Given the description of an element on the screen output the (x, y) to click on. 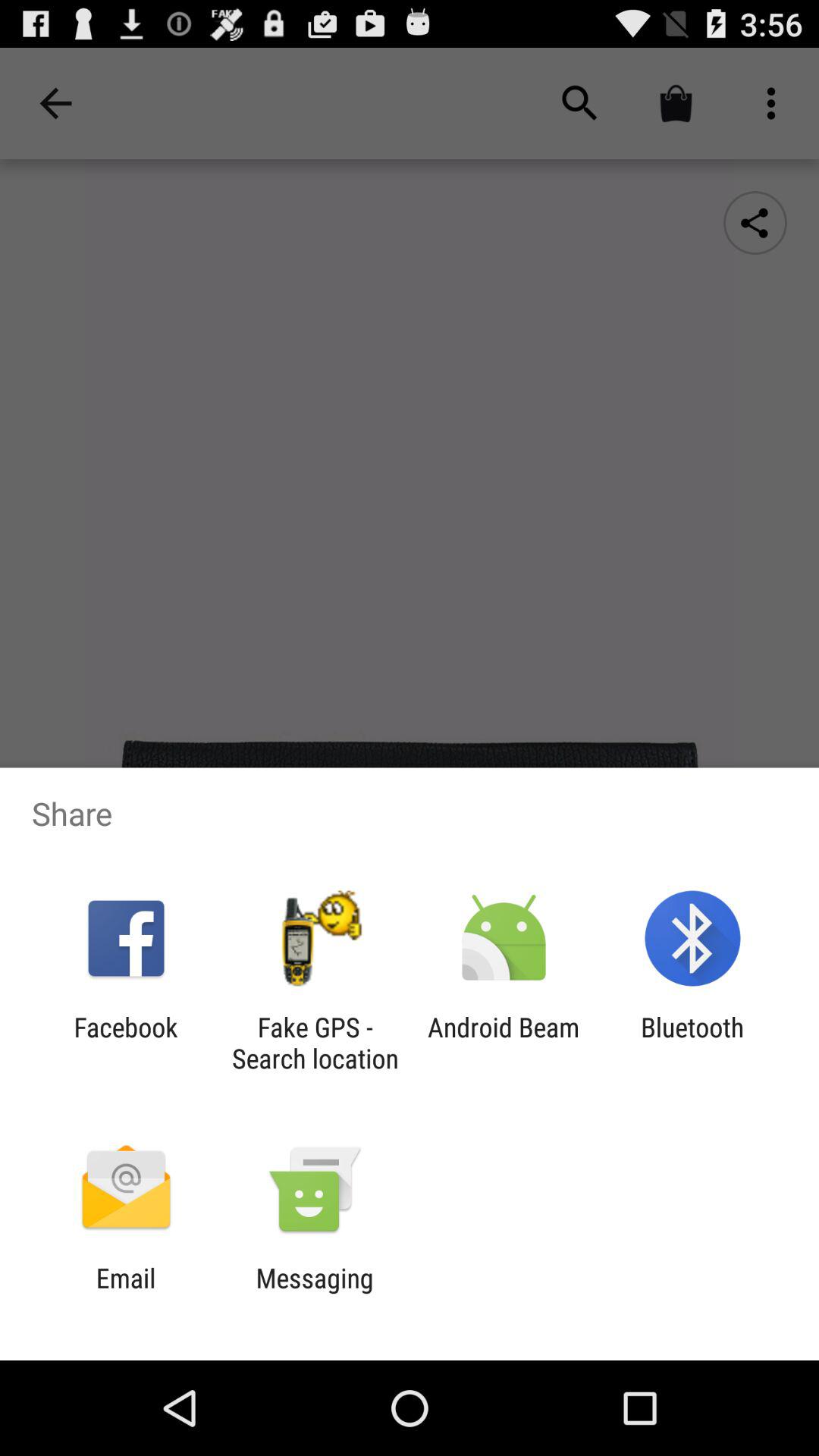
choose the messaging (314, 1293)
